Given the description of an element on the screen output the (x, y) to click on. 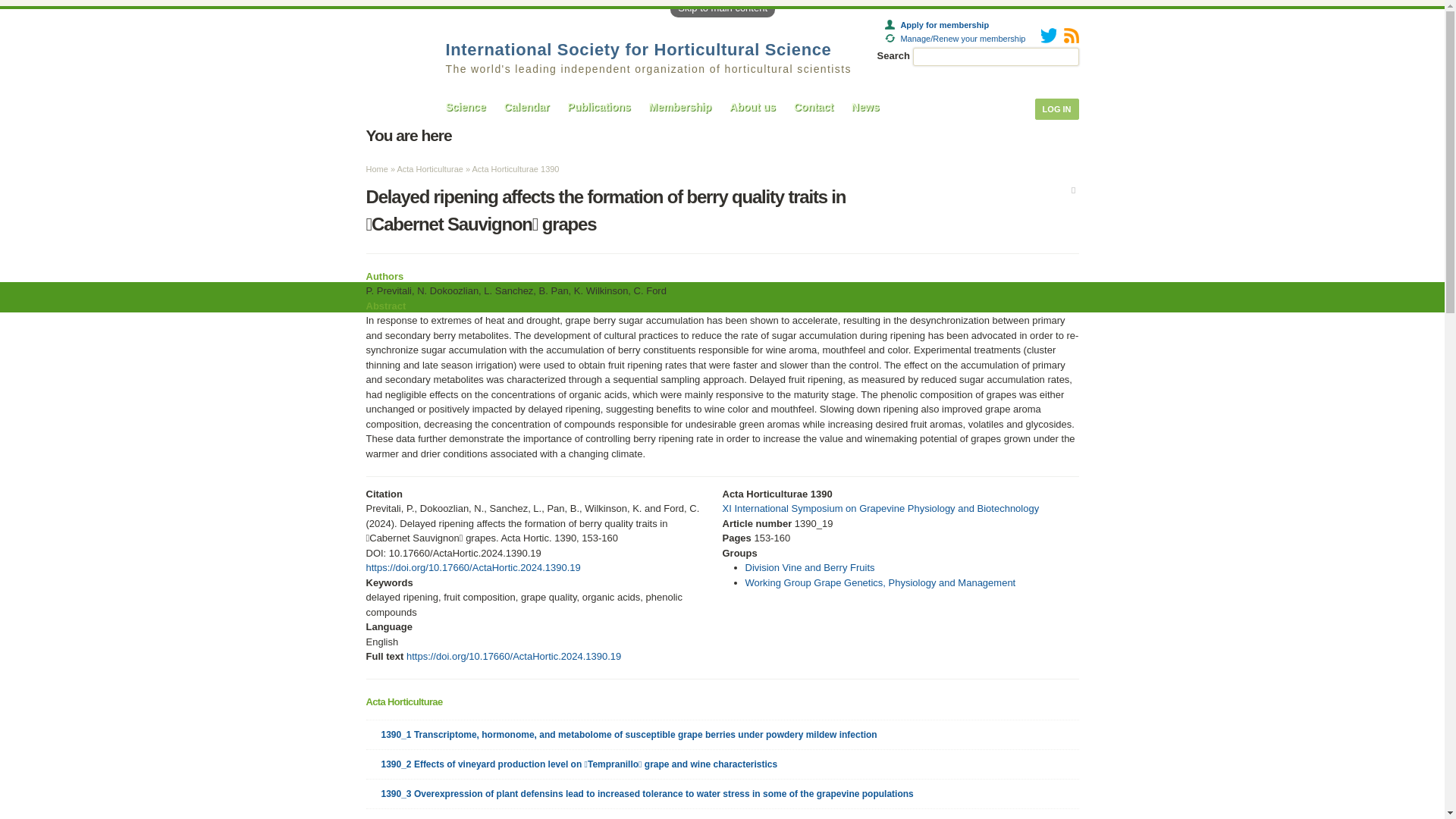
Membership (680, 106)
Search (1069, 57)
Science (465, 106)
About us (752, 106)
Apply for membership (936, 24)
Home (638, 49)
Search (1069, 57)
Skip to main content (721, 8)
International Society for Horticultural Science (638, 49)
